Given the description of an element on the screen output the (x, y) to click on. 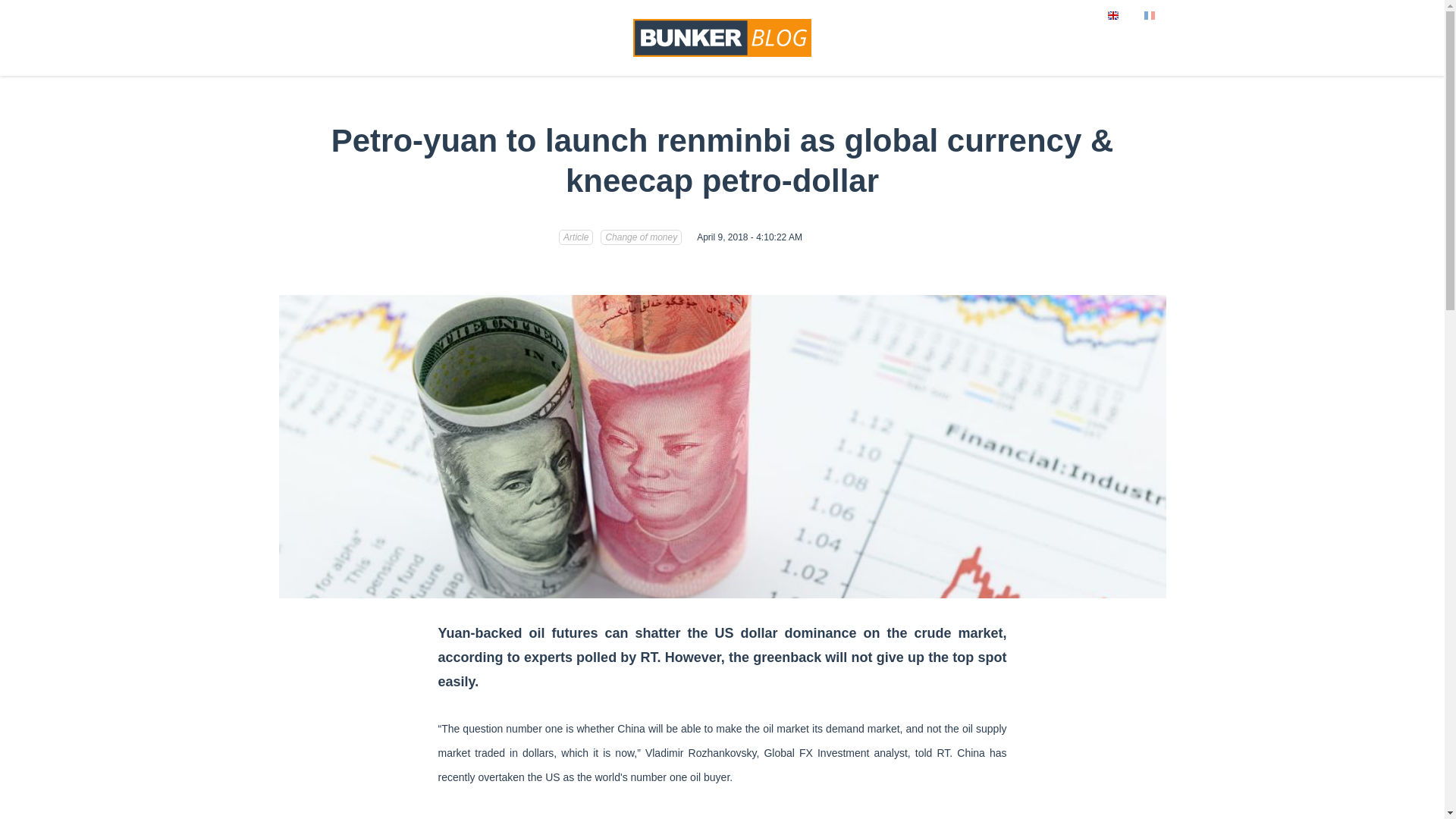
Article (575, 237)
Bunker Blog (721, 37)
Change of money (640, 237)
